Given the description of an element on the screen output the (x, y) to click on. 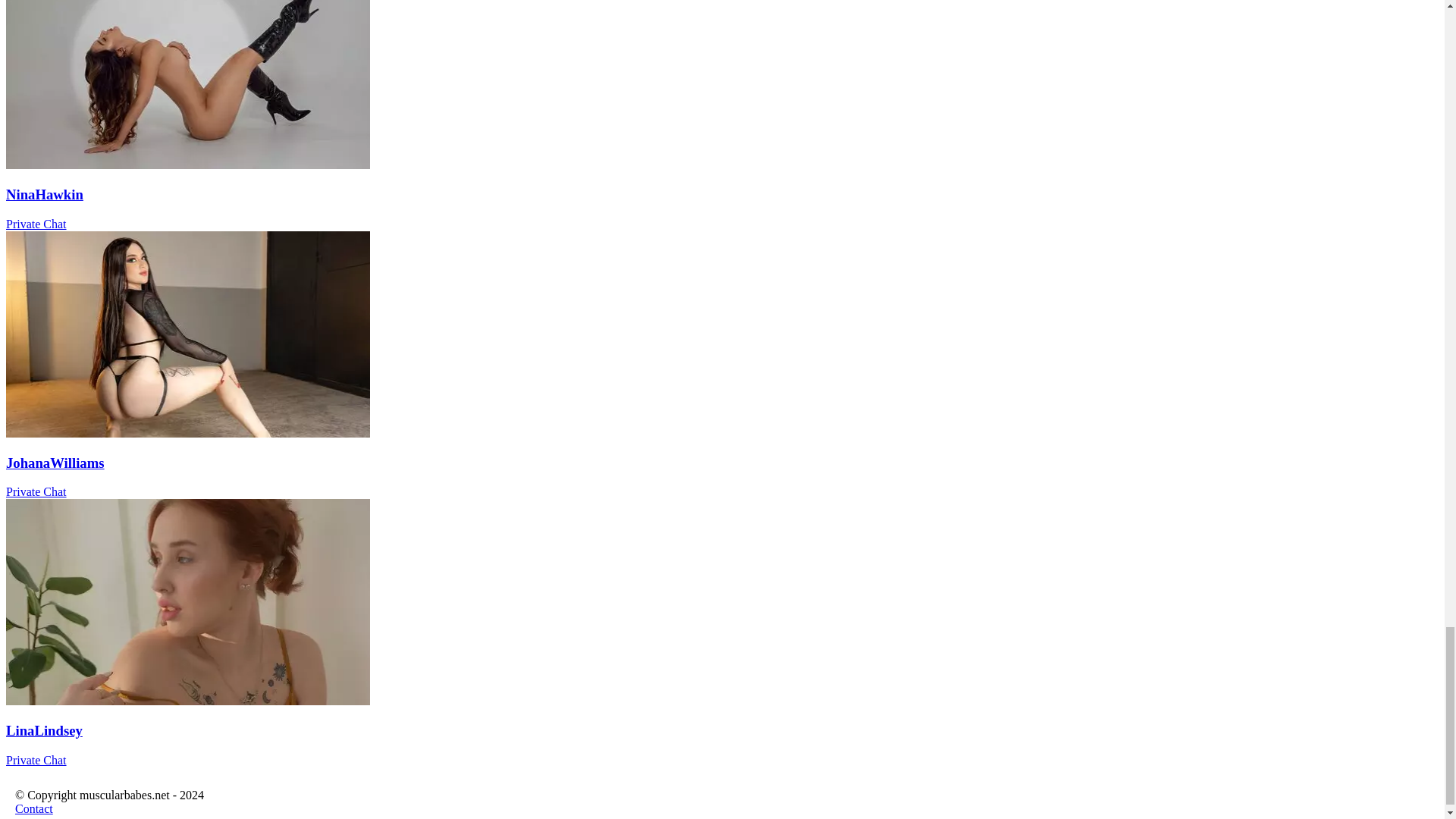
Contact (33, 808)
